Given the description of an element on the screen output the (x, y) to click on. 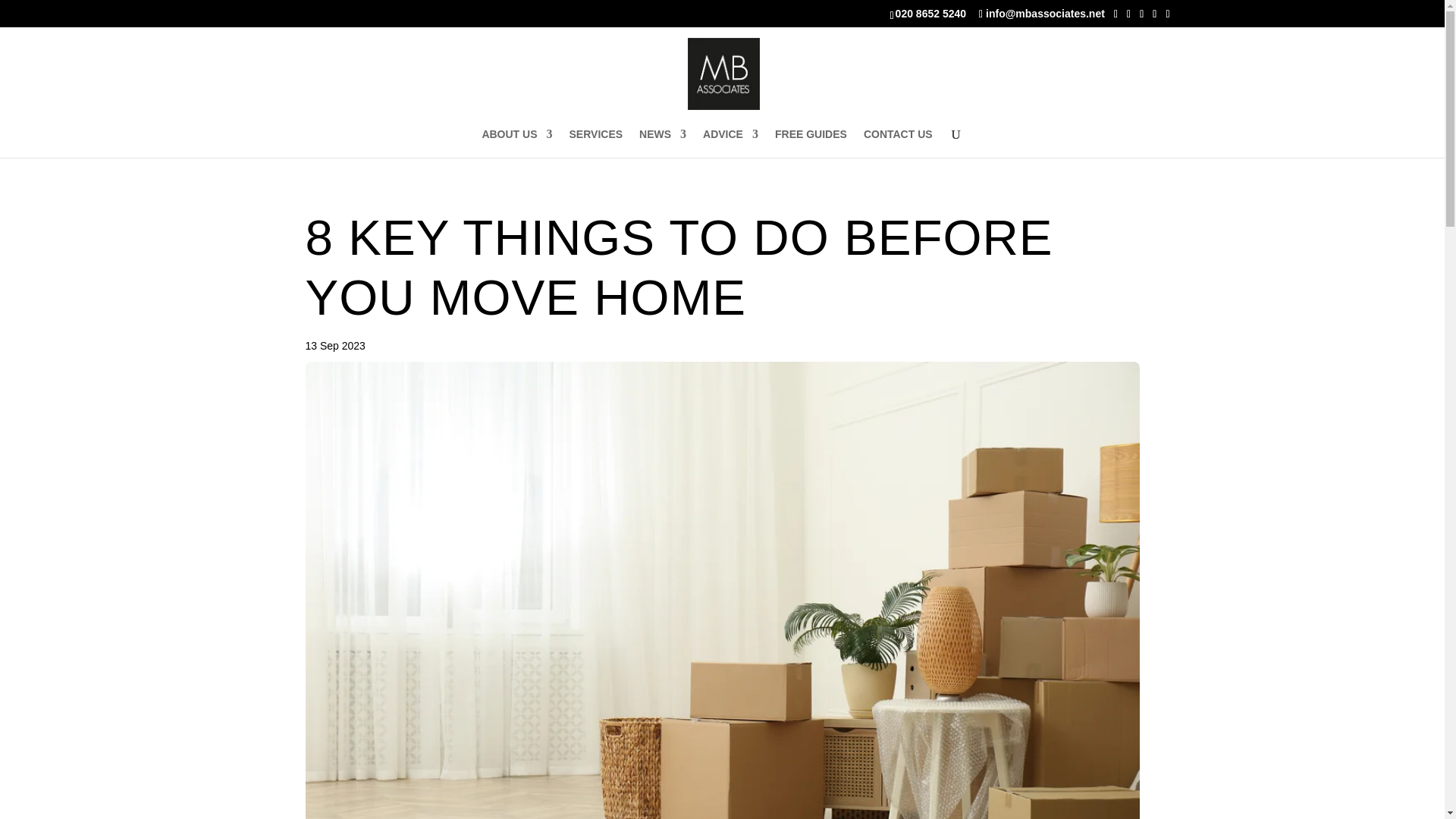
CONTACT US (898, 143)
NEWS (662, 143)
ABOUT US (516, 143)
SERVICES (596, 143)
FREE GUIDES (810, 143)
ADVICE (730, 143)
